Given the description of an element on the screen output the (x, y) to click on. 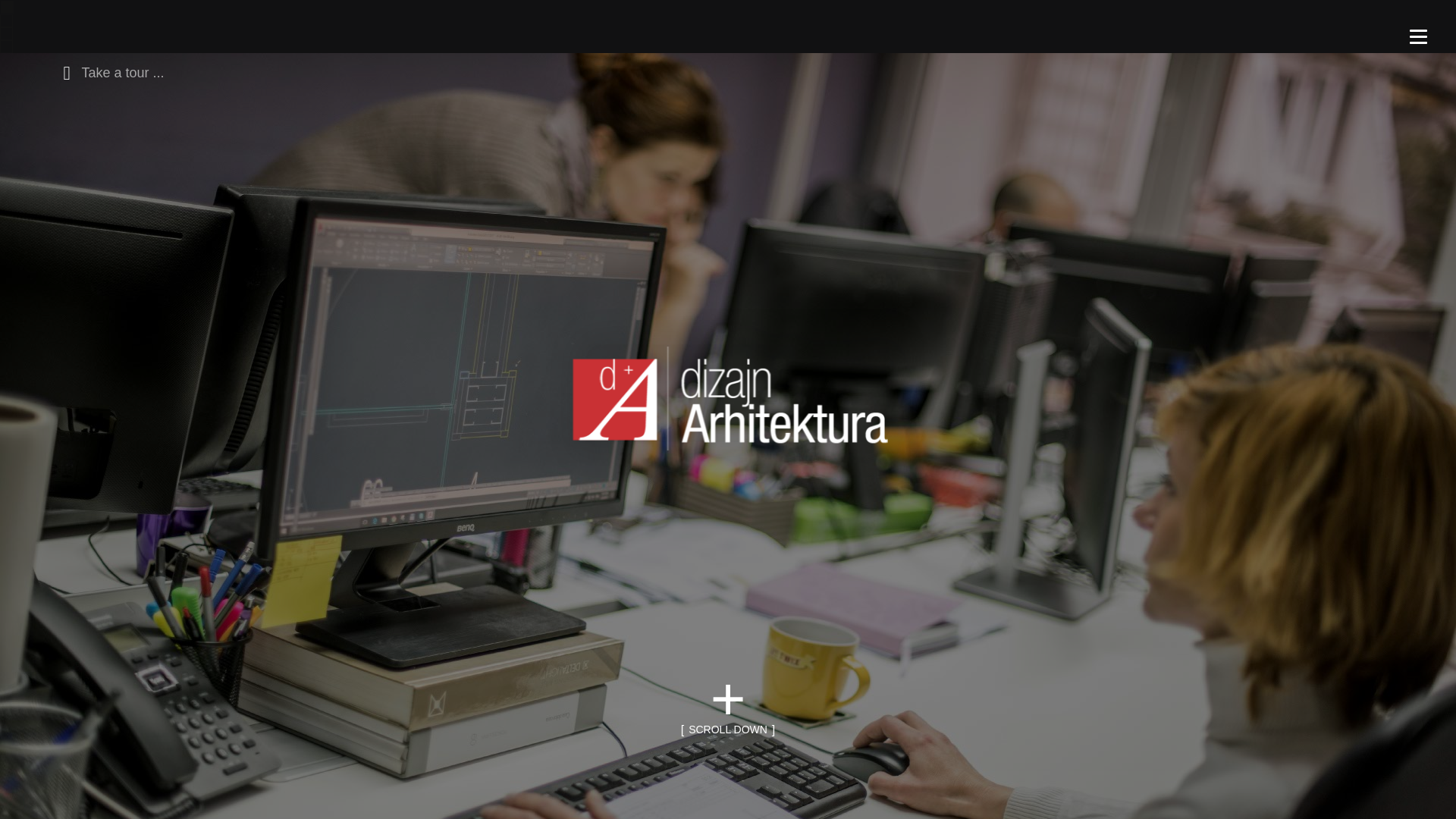
SCROLL DOWN (727, 730)
Take a tour ... (109, 70)
